Given the description of an element on the screen output the (x, y) to click on. 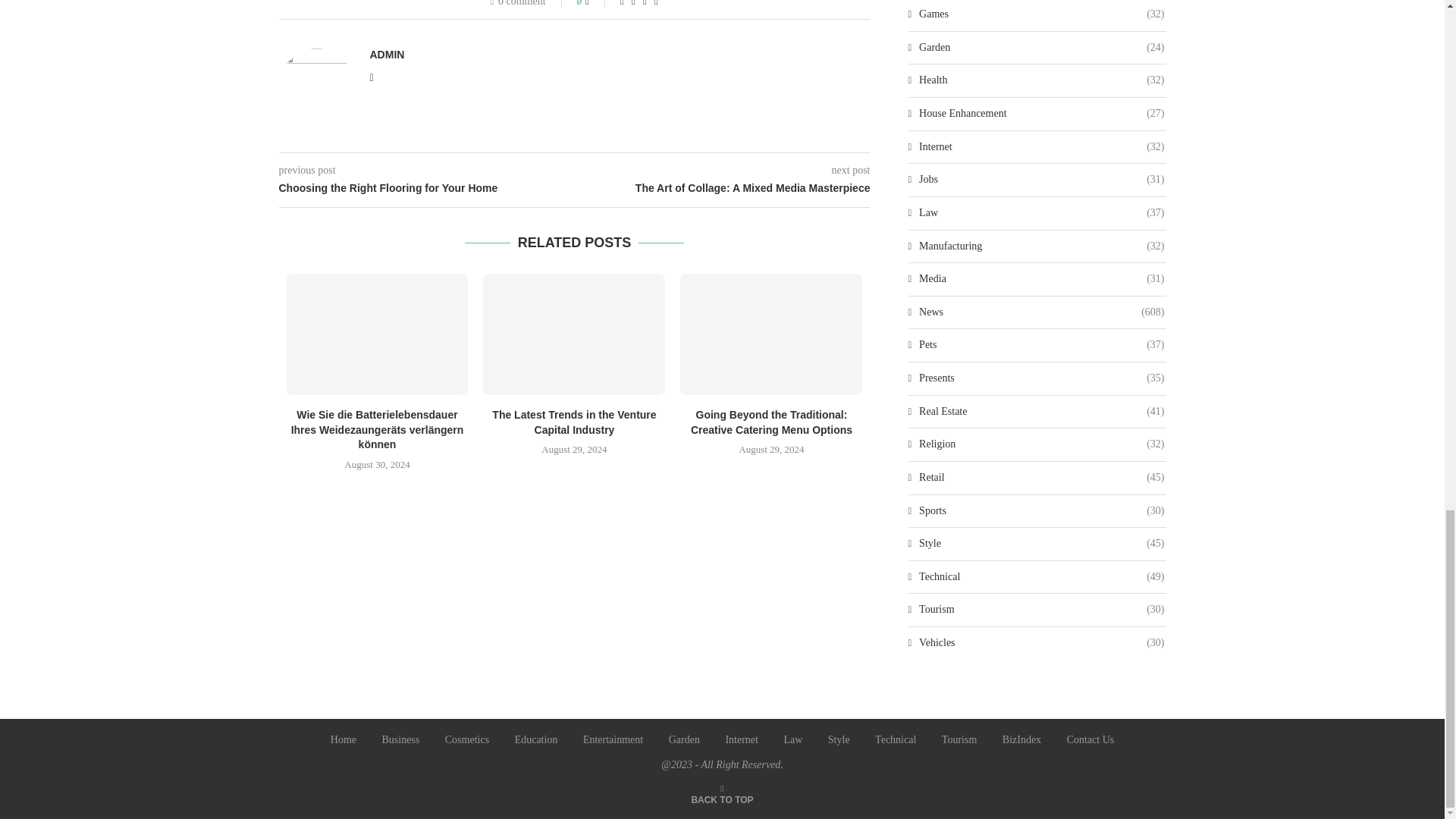
Like (597, 3)
The Latest Trends in the Venture Capital Industry (574, 333)
ADMIN (386, 54)
Author admin (386, 54)
Going Beyond the Traditional: Creative Catering Menu Options (770, 333)
